Given the description of an element on the screen output the (x, y) to click on. 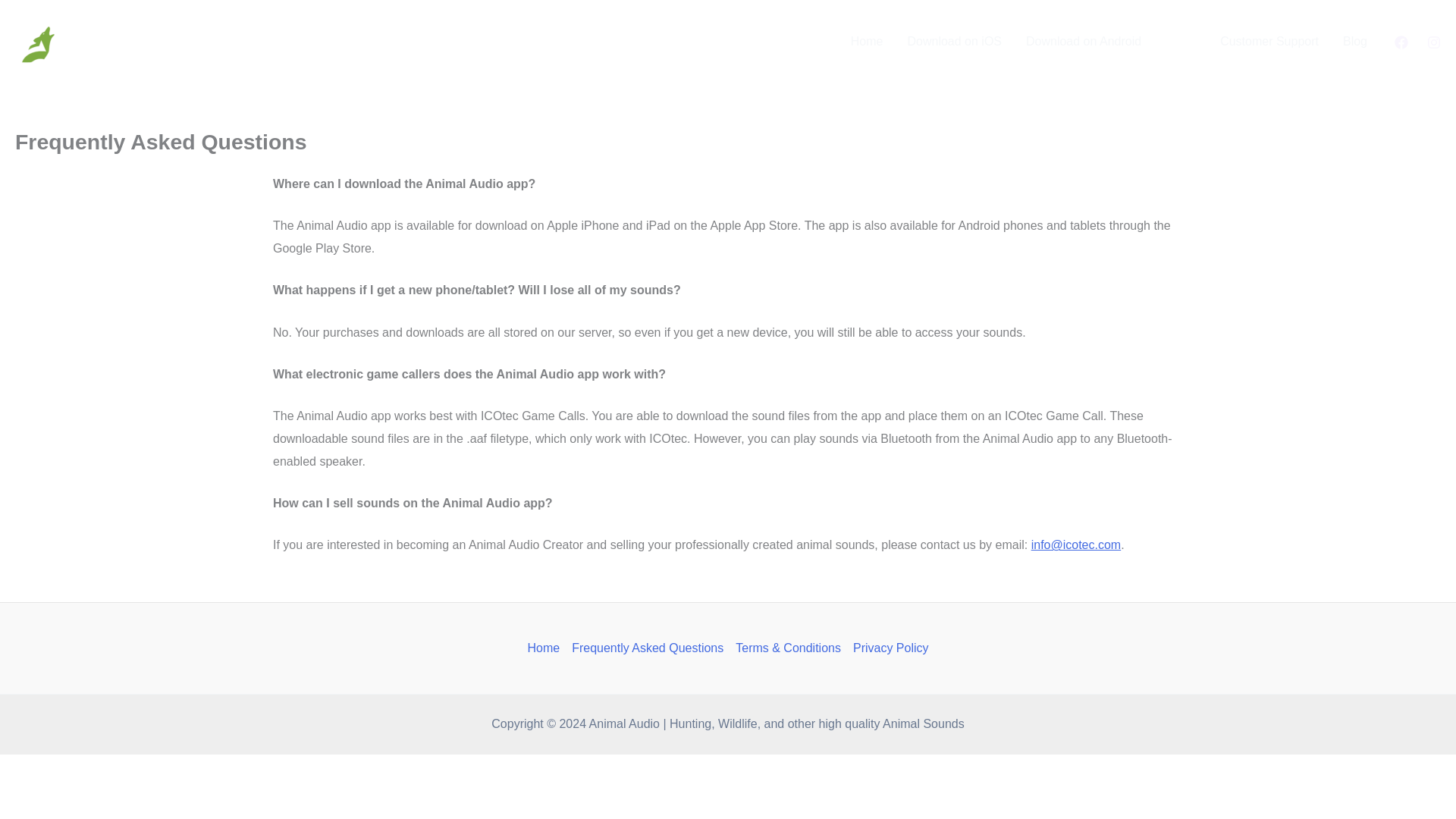
Frequently Asked Questions (647, 648)
Customer Support (1269, 41)
Download on Android (1083, 41)
Download on iOS (954, 41)
Privacy Policy (887, 648)
Home (546, 648)
